Given the description of an element on the screen output the (x, y) to click on. 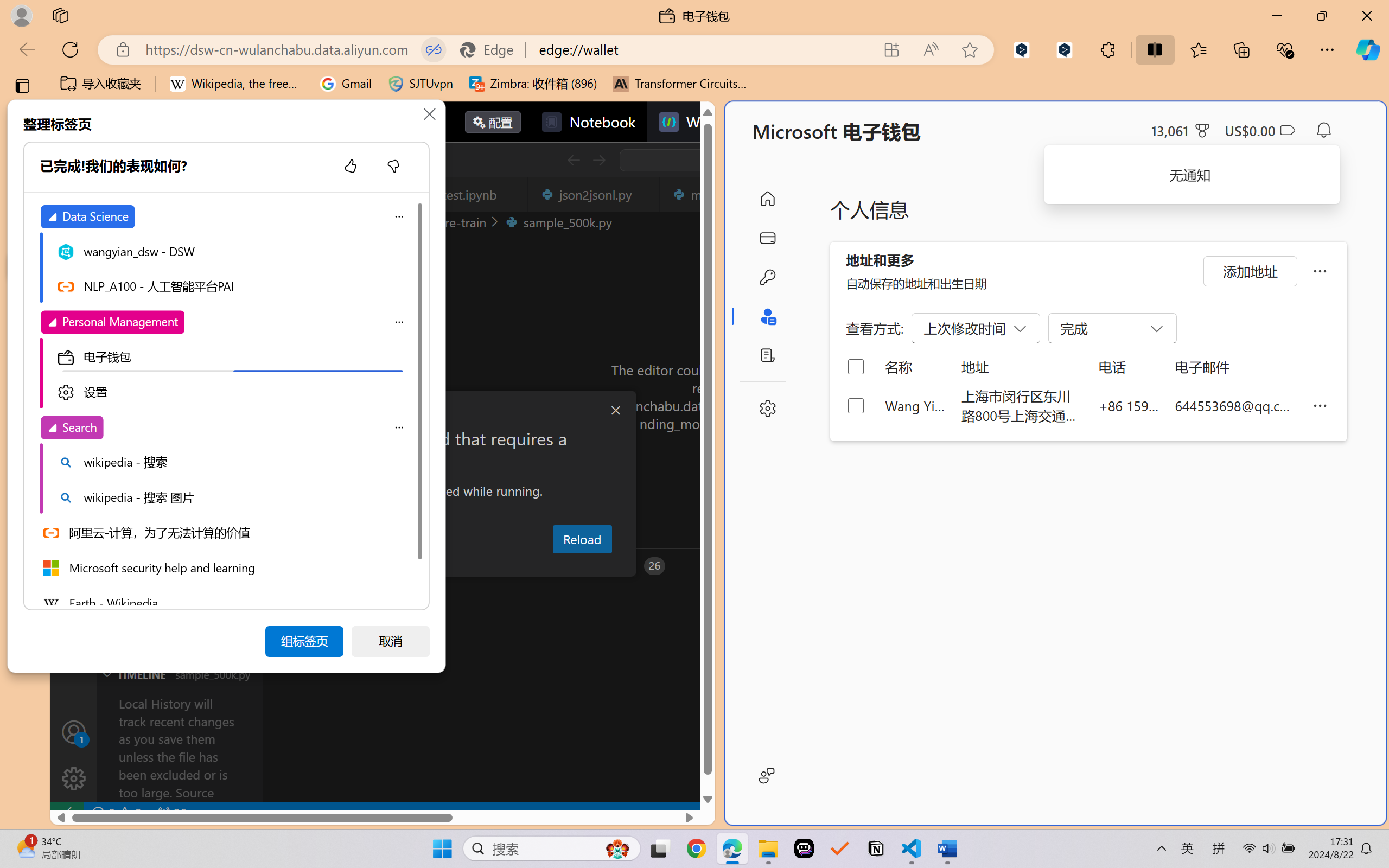
Copilot (Ctrl+Shift+.) (1368, 49)
644553698@qq.com (1235, 405)
